Given the description of an element on the screen output the (x, y) to click on. 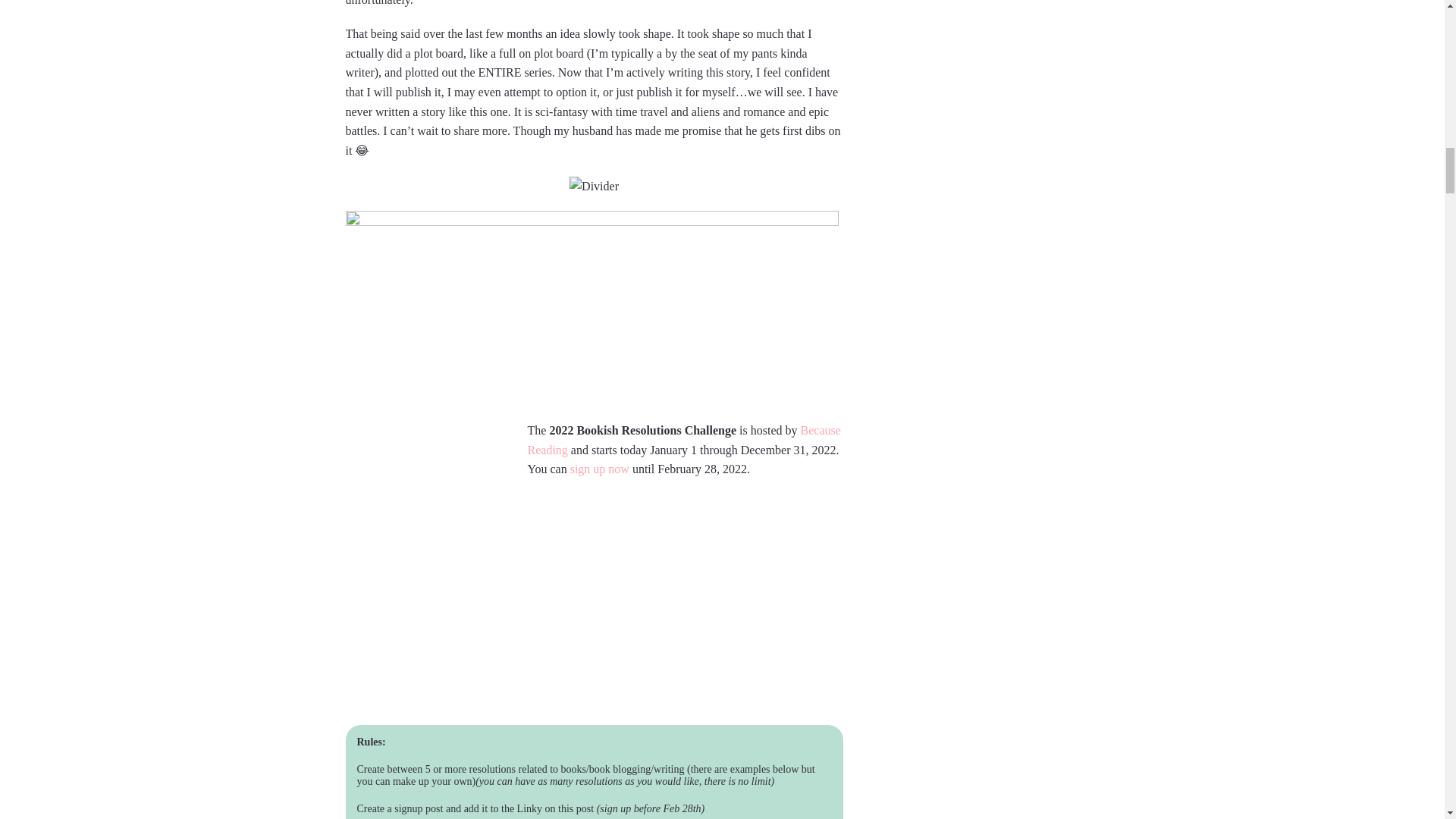
Because Reading (684, 440)
sign up now (599, 468)
